Given the description of an element on the screen output the (x, y) to click on. 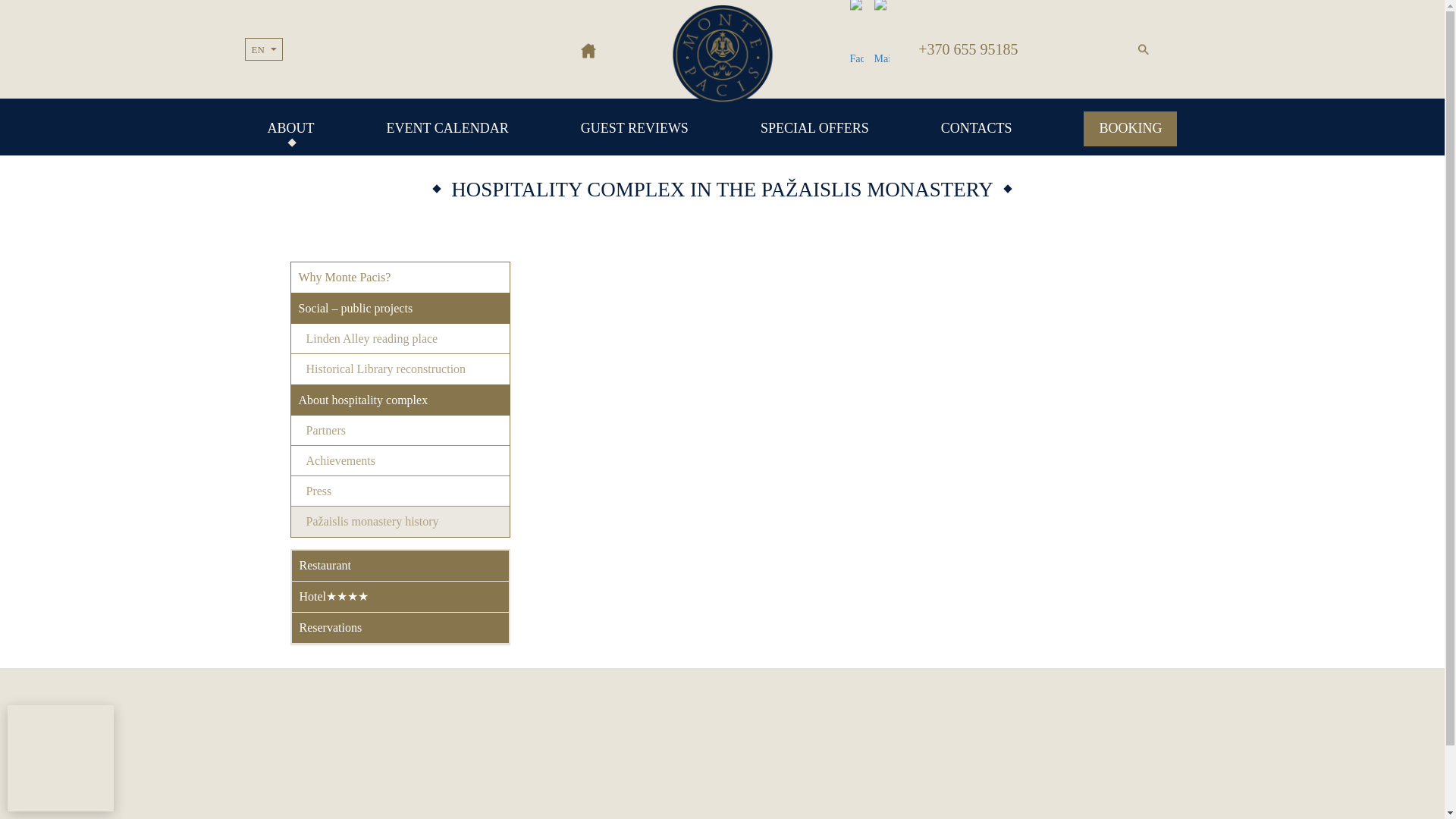
EN (257, 42)
Partners (400, 430)
Linden Alley reading place (400, 338)
Achievements (400, 460)
Historical Library reconstruction (400, 368)
Posts selected in En (257, 42)
CONTACTS (975, 141)
GUEST REVIEWS (634, 127)
About hospitality complex (400, 399)
Why Monte Pacis? (400, 277)
